Given the description of an element on the screen output the (x, y) to click on. 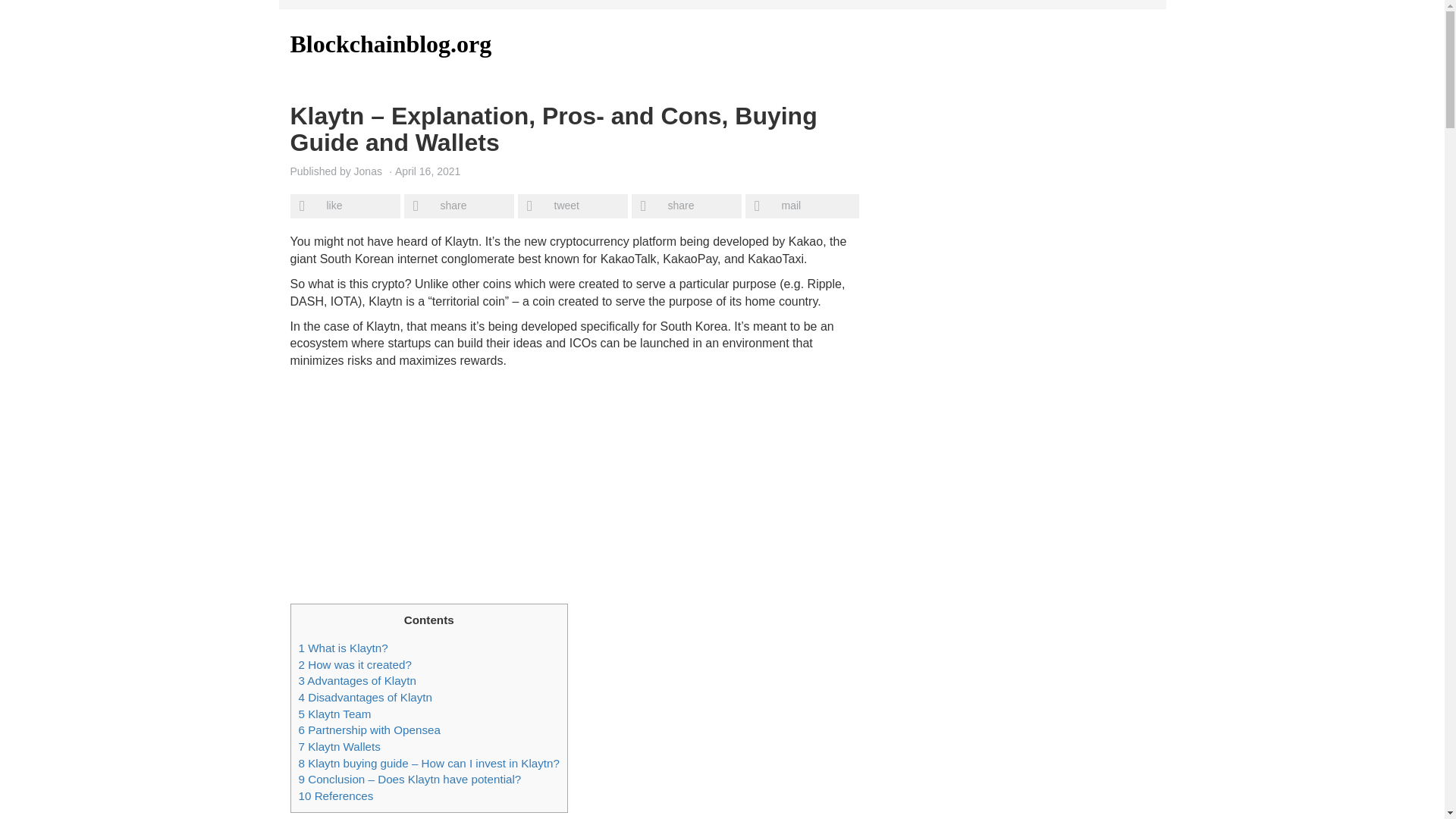
Blockchainblog.org (425, 44)
4 Disadvantages of Klaytn (365, 697)
3 Advantages of Klaytn (357, 680)
10 References (336, 795)
tweet (573, 206)
mail (801, 206)
share (687, 206)
1 What is Klaytn? (343, 647)
6 Partnership with Opensea (369, 729)
Jonas (367, 171)
